Given the description of an element on the screen output the (x, y) to click on. 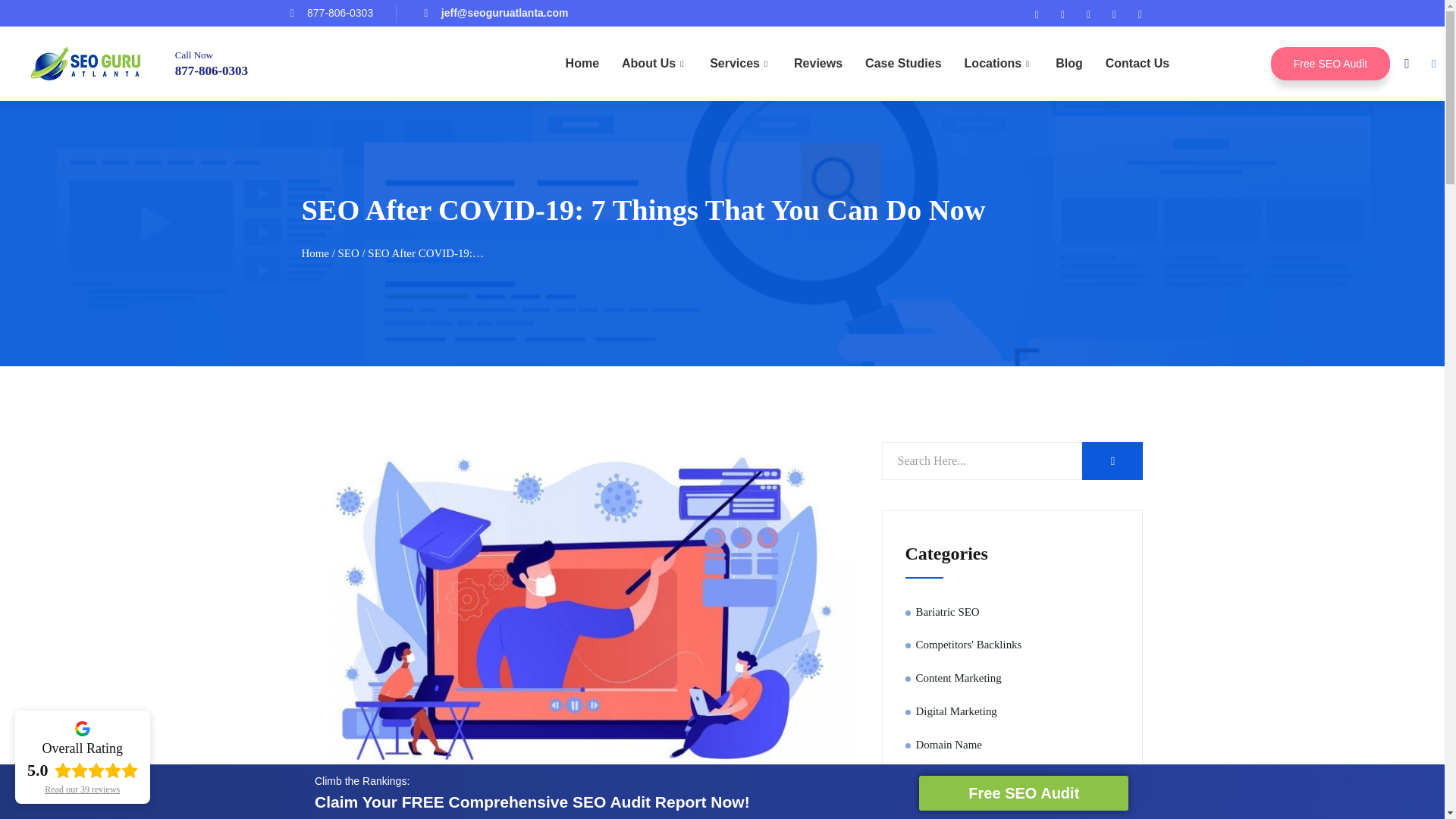
About Us (654, 63)
Services (740, 63)
Blog (1068, 63)
877-806-0303 (210, 70)
Case Studies (902, 63)
Free SEO Audit (1330, 63)
877-806-0303 (330, 13)
Contact Us (1137, 63)
Home (582, 63)
Locations (999, 63)
Reviews (818, 63)
